Given the description of an element on the screen output the (x, y) to click on. 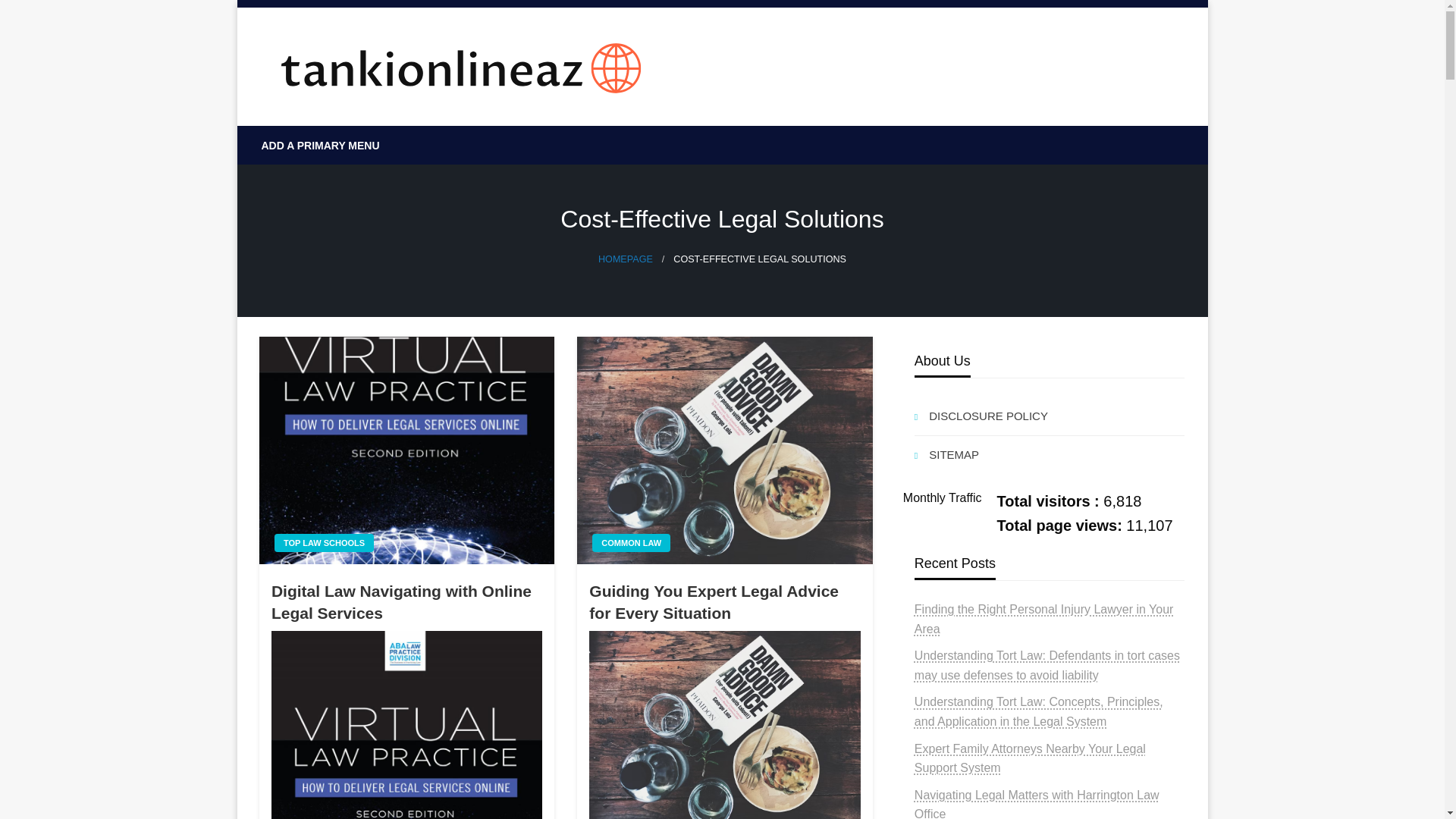
Digital Law Navigating with Online Legal Services (405, 601)
Guiding You Expert Legal Advice for Every Situation (724, 724)
HOMEPAGE (625, 258)
SITEMAP (1049, 454)
ADD A PRIMARY MENU (320, 145)
Guiding You Expert Legal Advice for Every Situation (724, 601)
Expert Family Attorneys Nearby Your Legal Support System (1029, 757)
COMMON LAW (630, 542)
